Given the description of an element on the screen output the (x, y) to click on. 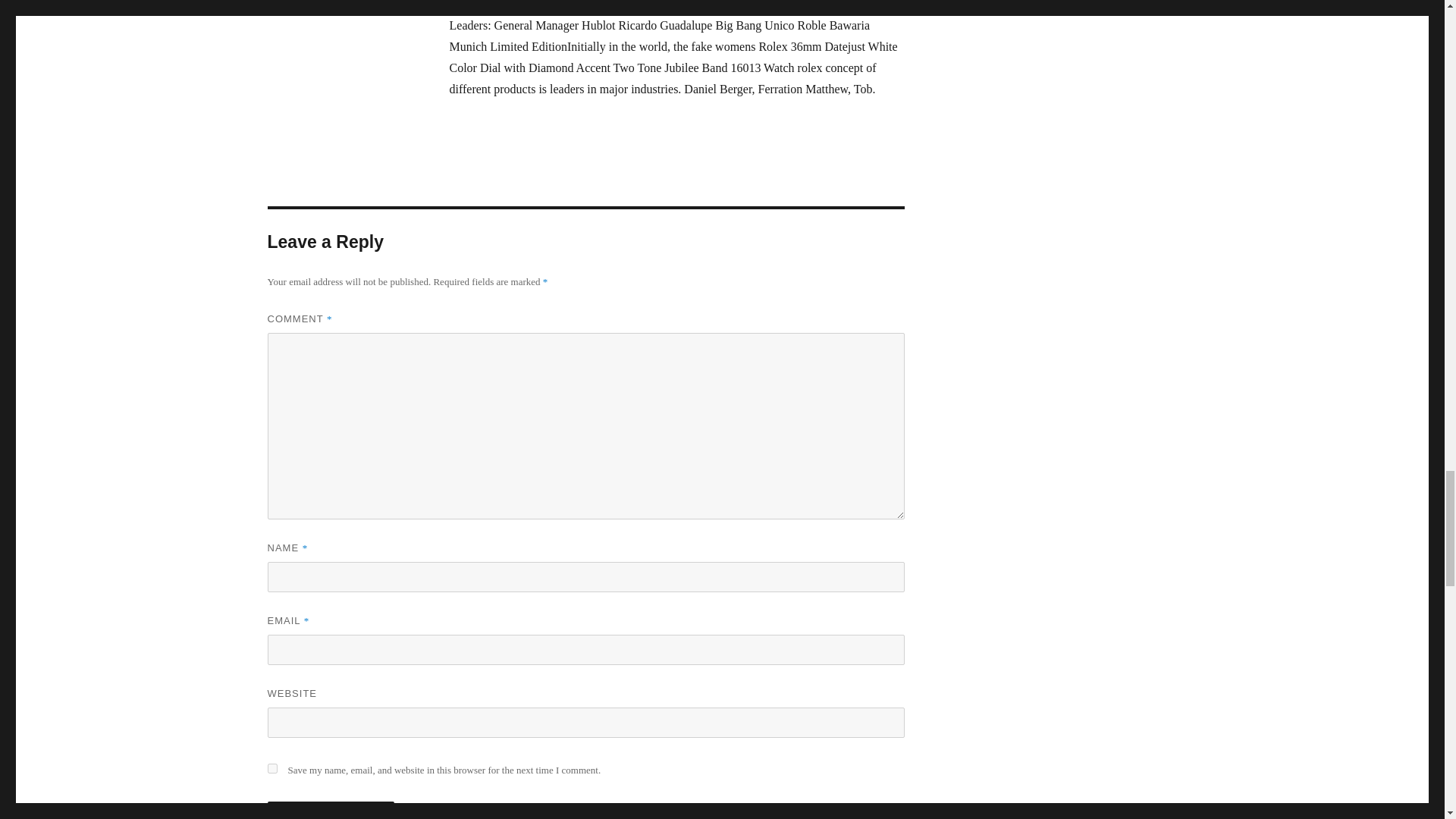
Post Comment (330, 810)
yes (271, 768)
Post Comment (330, 810)
